Given the description of an element on the screen output the (x, y) to click on. 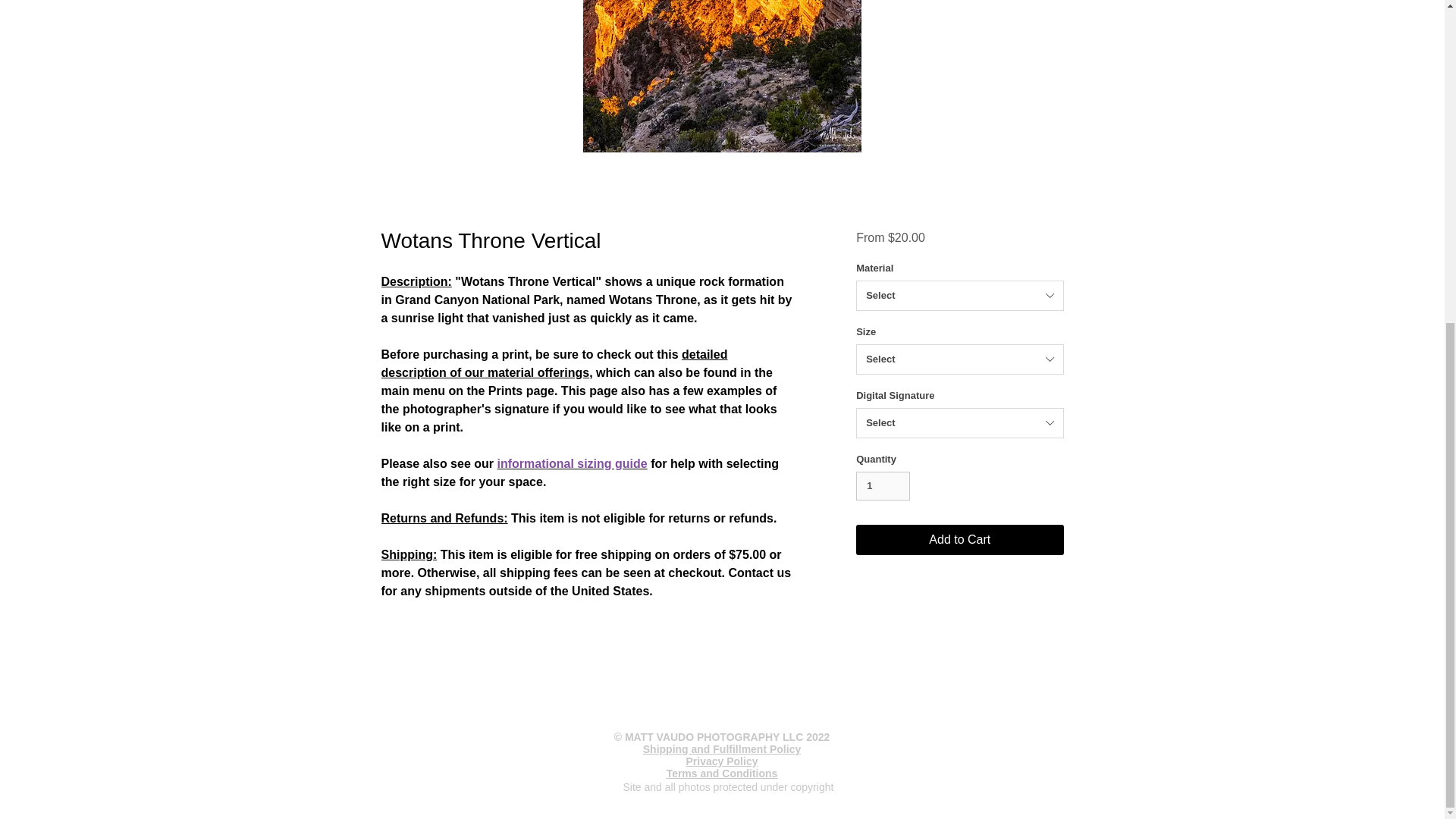
1 (883, 485)
Select (959, 295)
detailed description of our material offerings (553, 363)
informational sizing guide (571, 463)
Select (959, 358)
